Given the description of an element on the screen output the (x, y) to click on. 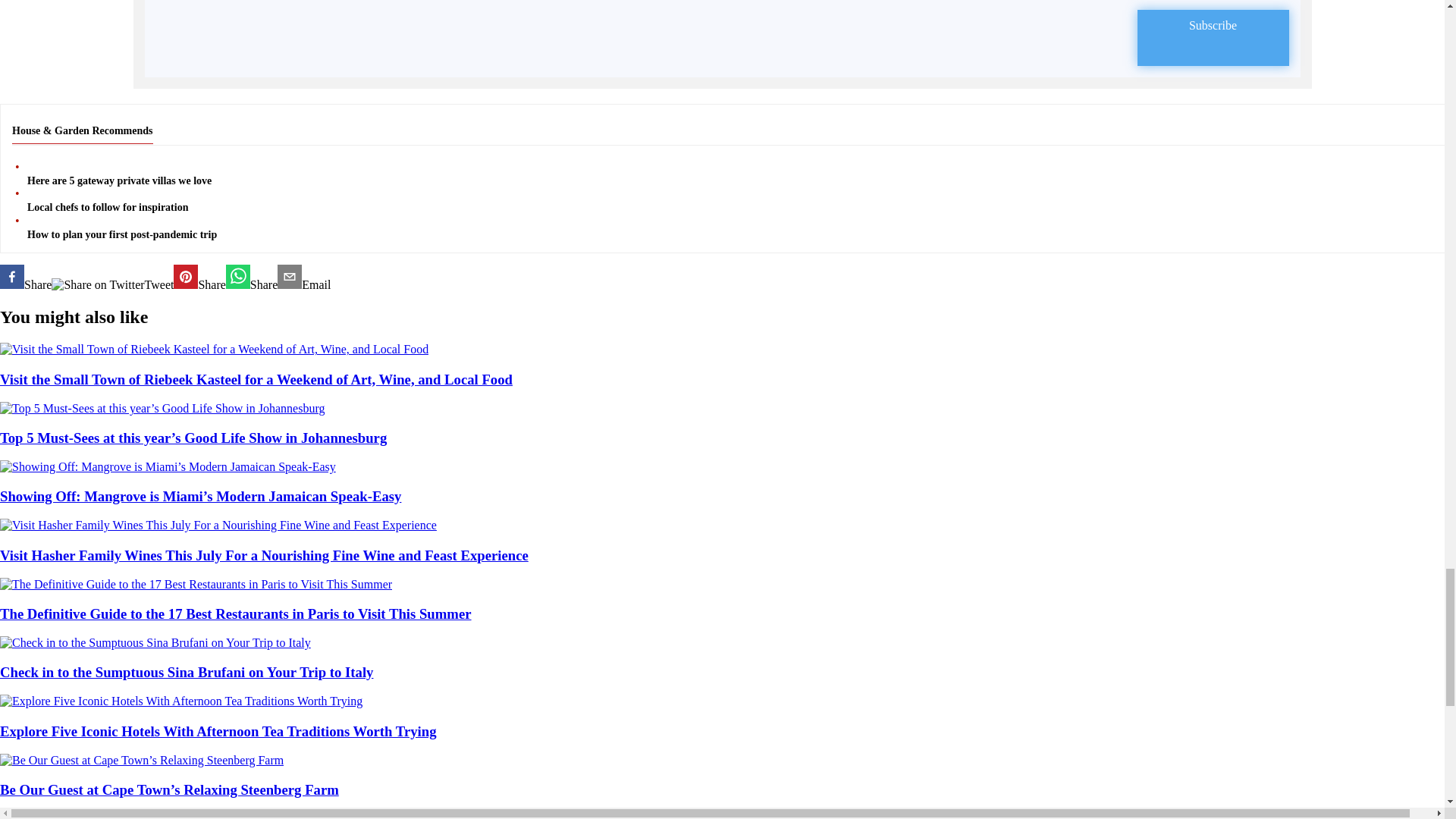
Email (304, 277)
SEE: 5 Instagram inspired staycations (199, 277)
Share on Twitter (97, 284)
Share (25, 277)
Share (199, 277)
Tweet (111, 284)
Subscribe (1212, 37)
SEE: 5 Instagram inspired staycations (304, 277)
Share (251, 277)
